Given the description of an element on the screen output the (x, y) to click on. 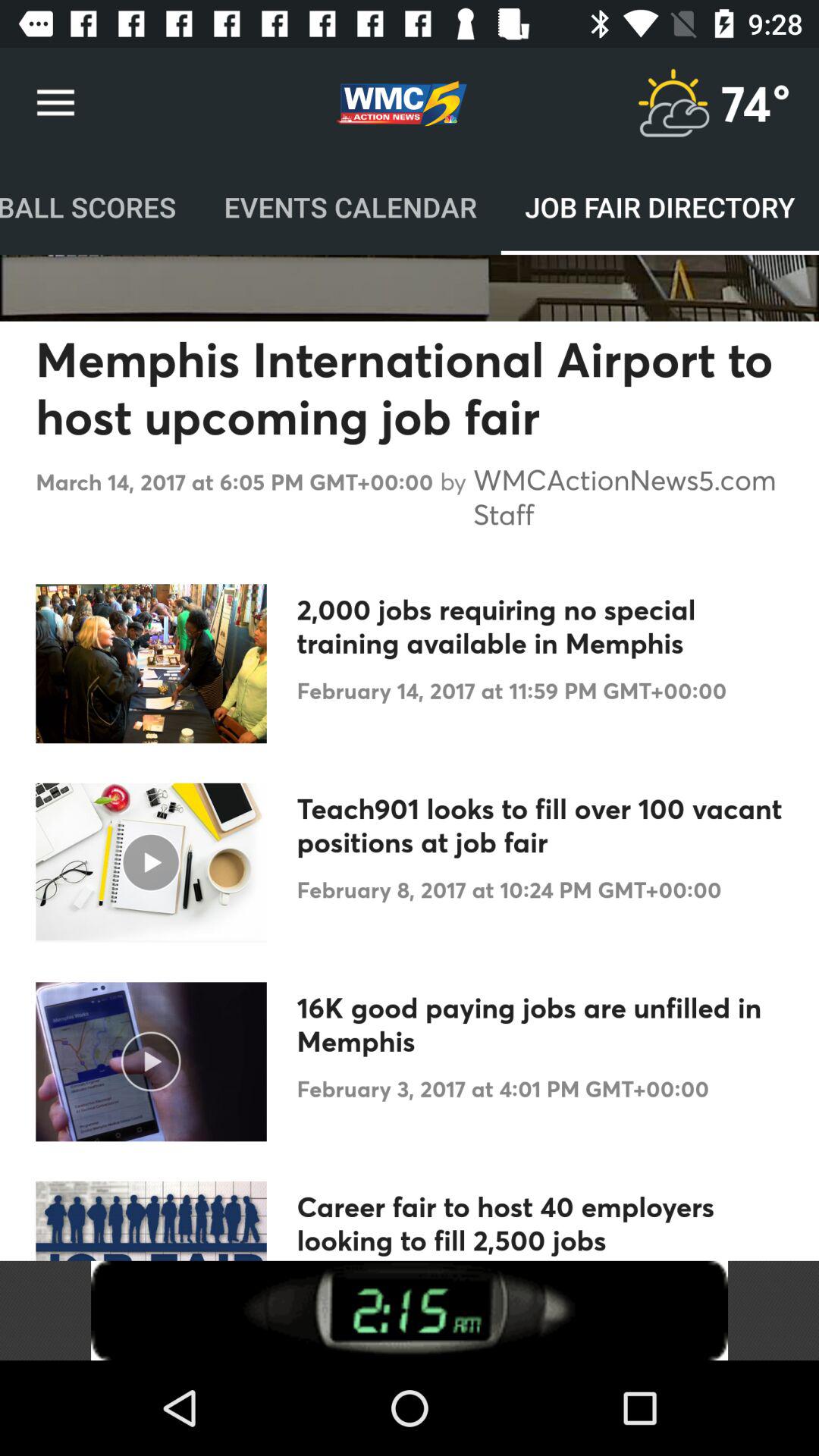
sponsored link (409, 1310)
